Given the description of an element on the screen output the (x, y) to click on. 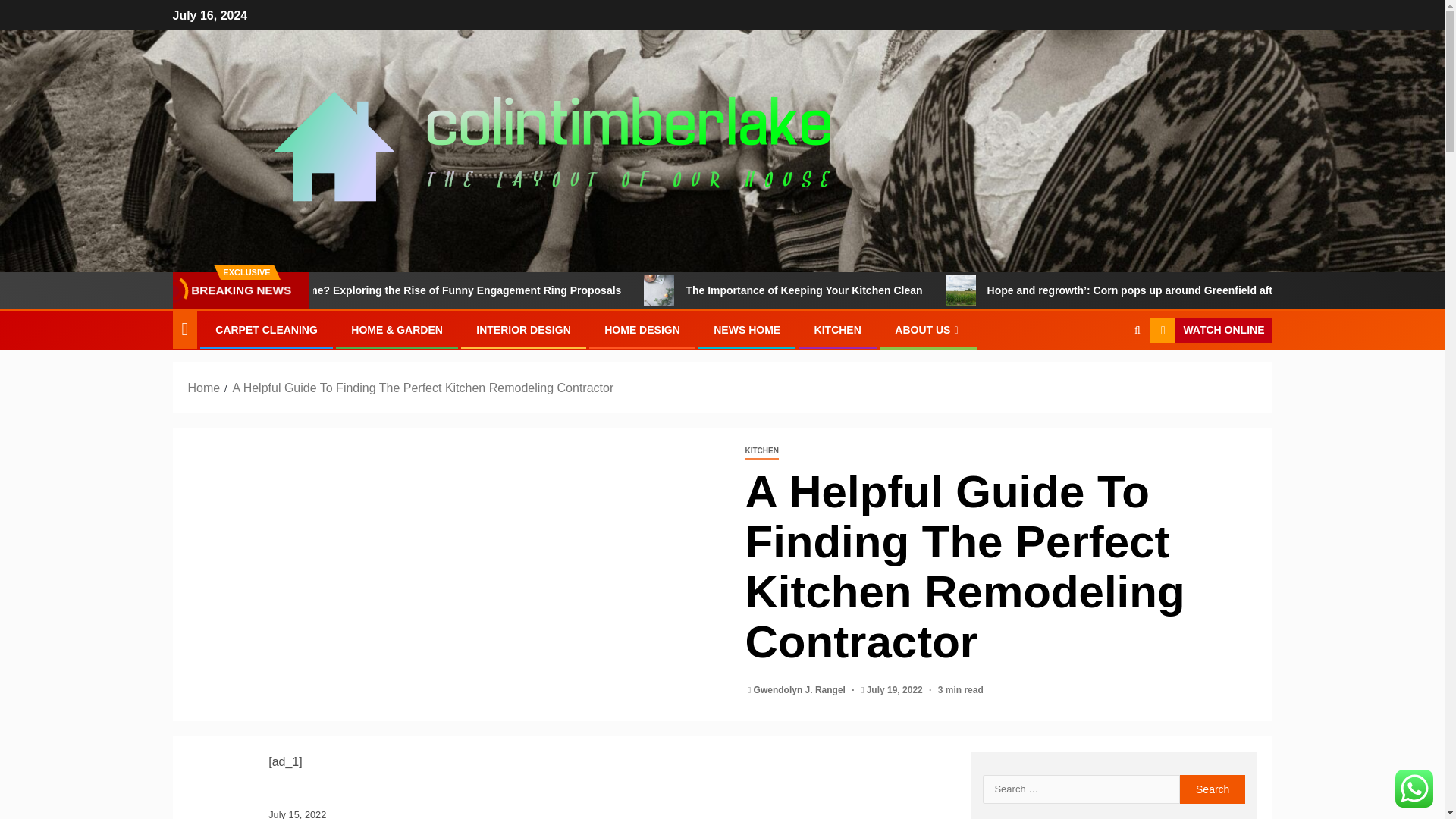
Gwendolyn J. Rangel (801, 689)
WATCH ONLINE (1210, 330)
Home (204, 387)
KITCHEN (837, 329)
KITCHEN (760, 451)
The Importance of Keeping Your Kitchen Clean (920, 290)
ABOUT US (927, 329)
The Importance of Keeping Your Kitchen Clean (751, 290)
NEWS HOME (746, 329)
HOME DESIGN (641, 329)
Search (1107, 376)
INTERIOR DESIGN (523, 329)
Search (1212, 788)
